Given the description of an element on the screen output the (x, y) to click on. 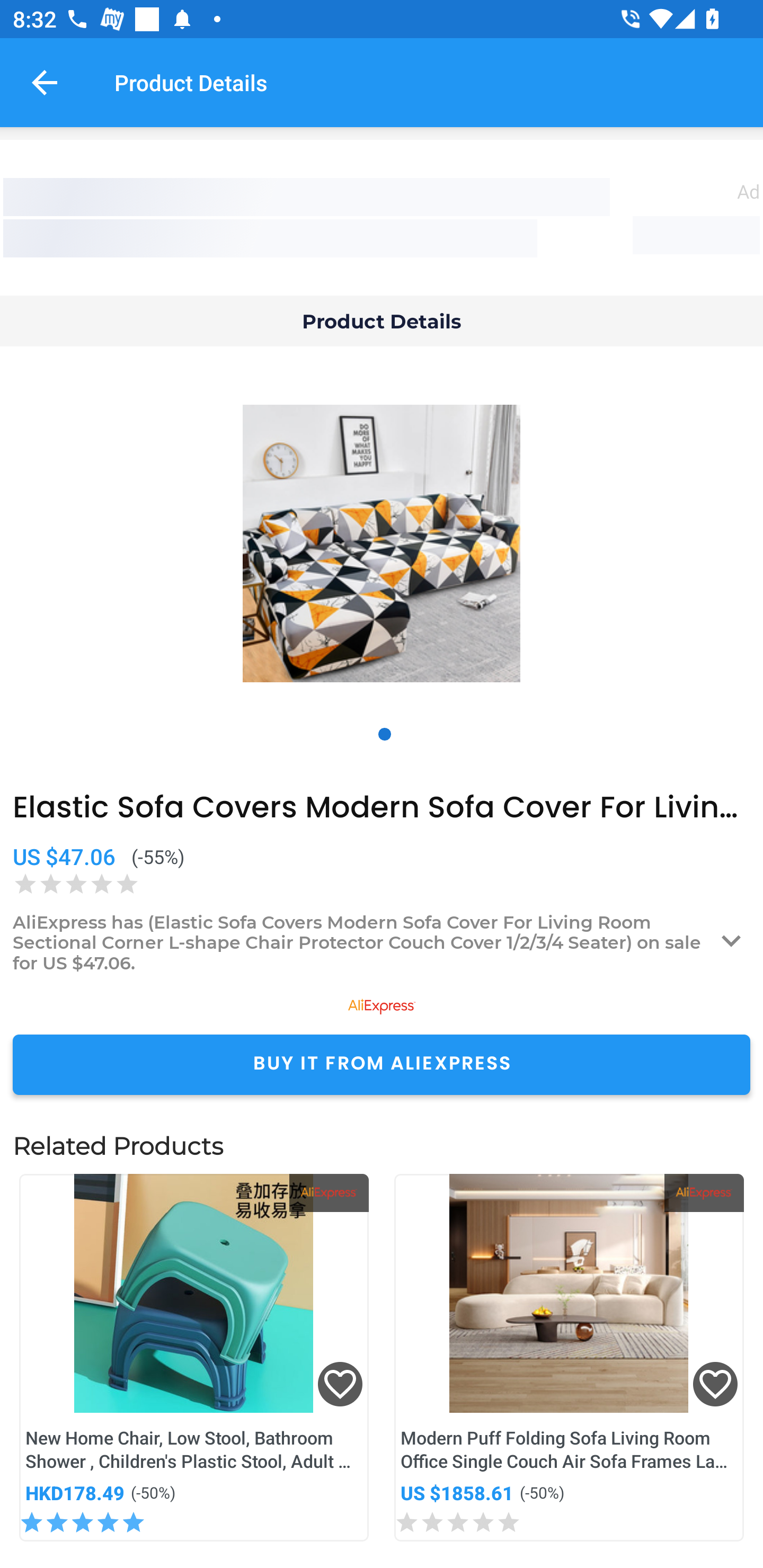
Navigate up (44, 82)
BUY IT FROM ALIEXPRESS (381, 1064)
